Given the description of an element on the screen output the (x, y) to click on. 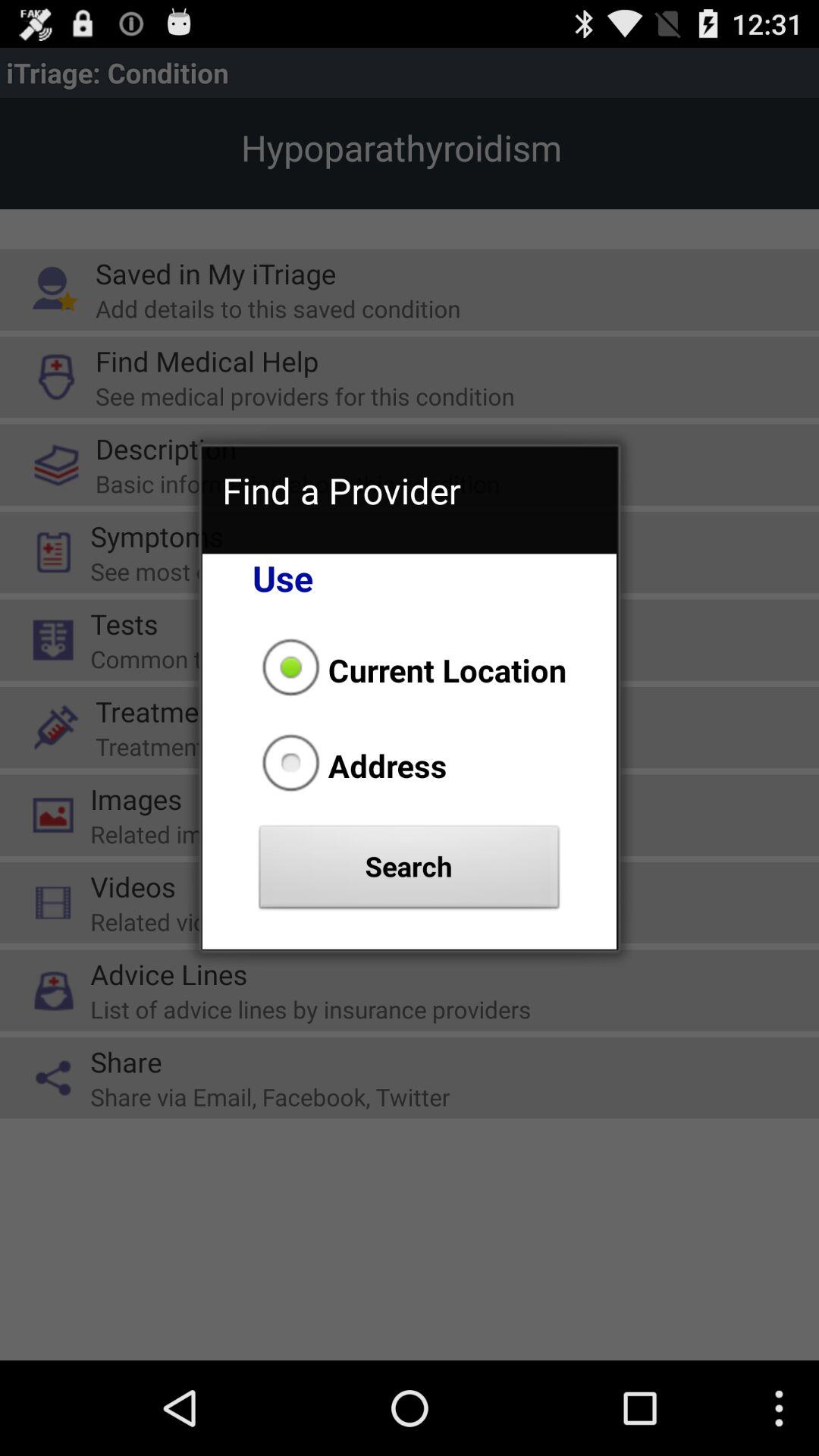
turn off address (349, 765)
